Given the description of an element on the screen output the (x, y) to click on. 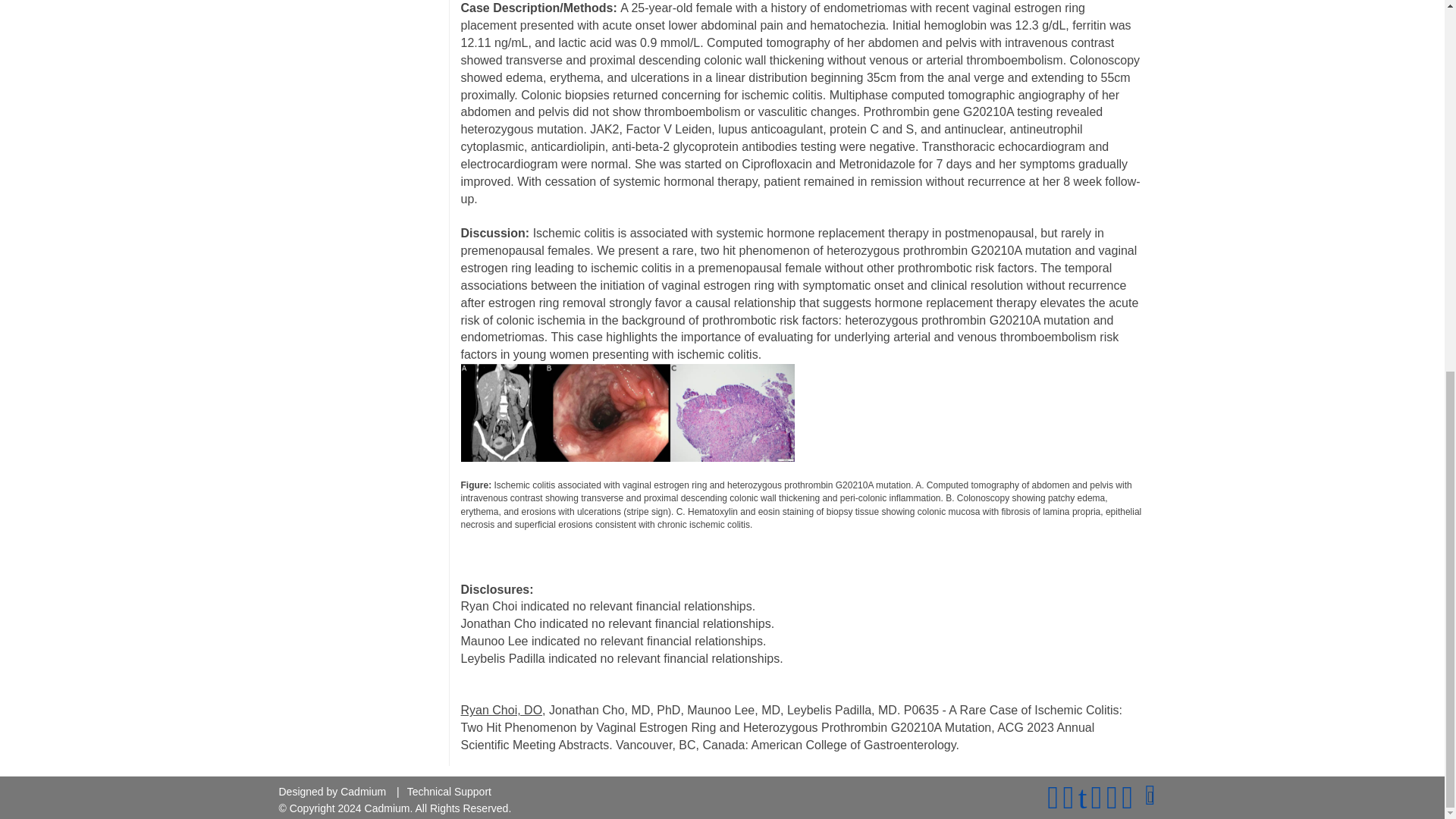
Technical Support (449, 114)
Website link (1151, 121)
Cadmium (362, 114)
